Given the description of an element on the screen output the (x, y) to click on. 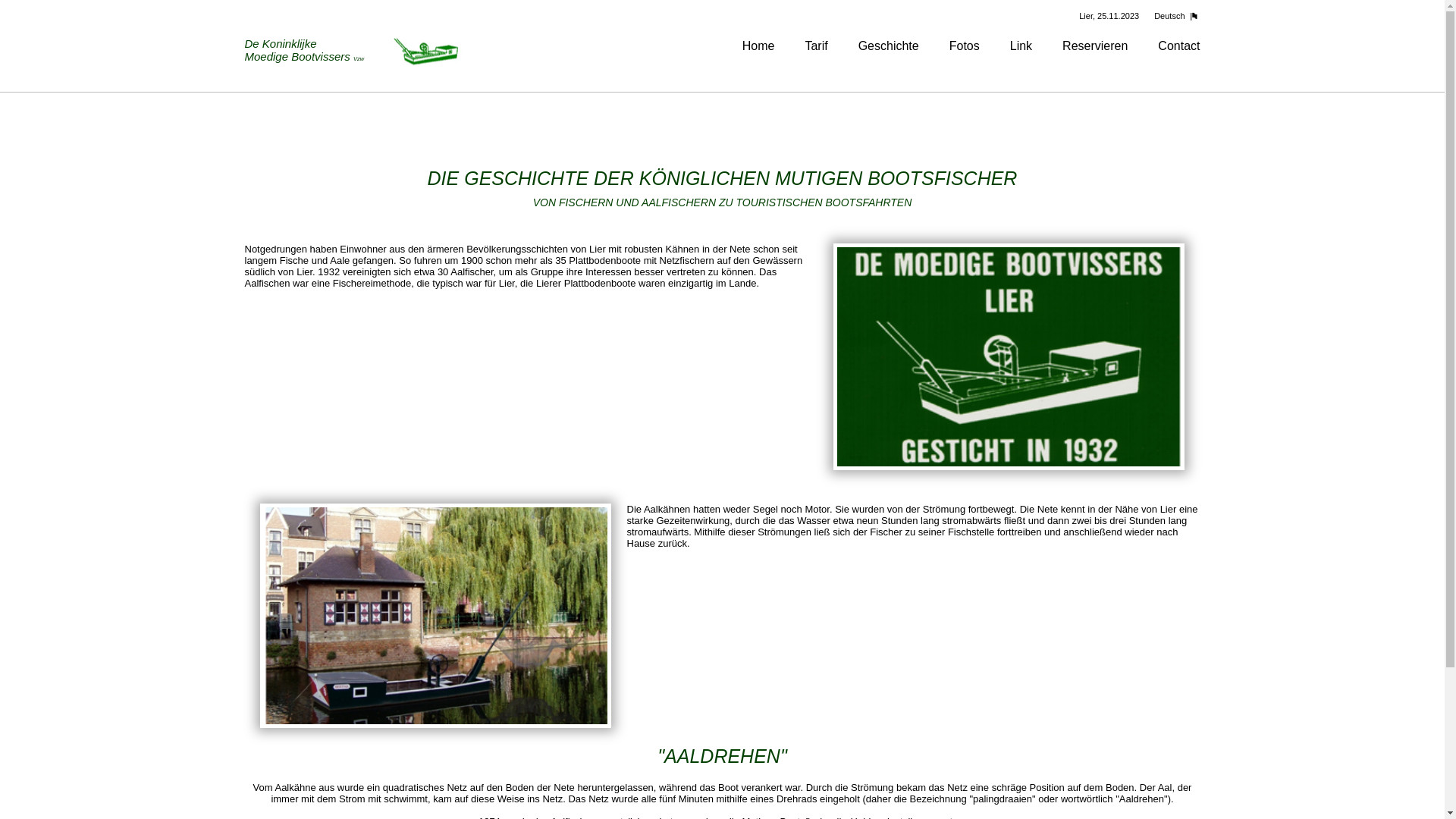
Een kijkje op een van de boten op de Nete Element type: hover (435, 615)
De Koninklijke
Moedige Bootvissers Vzw Element type: text (354, 51)
Geschichte Element type: text (888, 45)
Link Element type: text (1021, 45)
Home Element type: text (758, 45)
Reservieren Element type: text (1094, 45)
Tarif Element type: text (815, 45)
Deutsch Element type: text (1172, 15)
Contact Element type: text (1178, 45)
Fotos Element type: text (964, 45)
Koninklijke Moedige Bootvissers Lier Element type: hover (1009, 356)
